Given the description of an element on the screen output the (x, y) to click on. 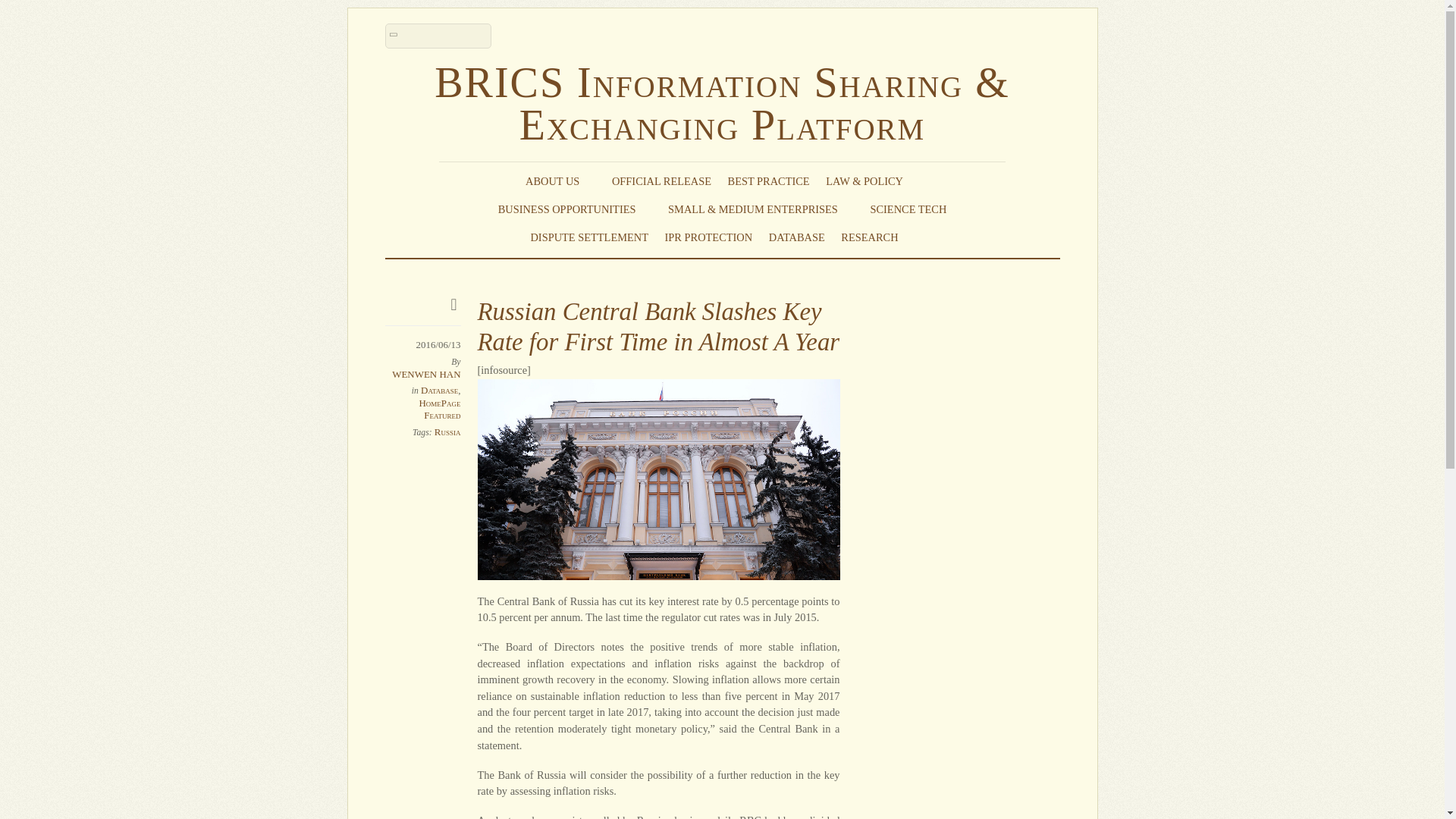
IPR PROTECTION (709, 237)
Database (439, 389)
DISPUTE SETTLEMENT (588, 237)
OFFICIAL RELEASE (661, 180)
WENWEN HAN (425, 374)
DATABASE (796, 237)
BUSINESS OPPORTUNITIES (575, 209)
HomePage Featured (439, 408)
Russia (447, 431)
ABOUT US (559, 180)
Search (438, 35)
RESEARCH (877, 237)
BEST PRACTICE (768, 180)
SCIENCE TECH (908, 209)
